Given the description of an element on the screen output the (x, y) to click on. 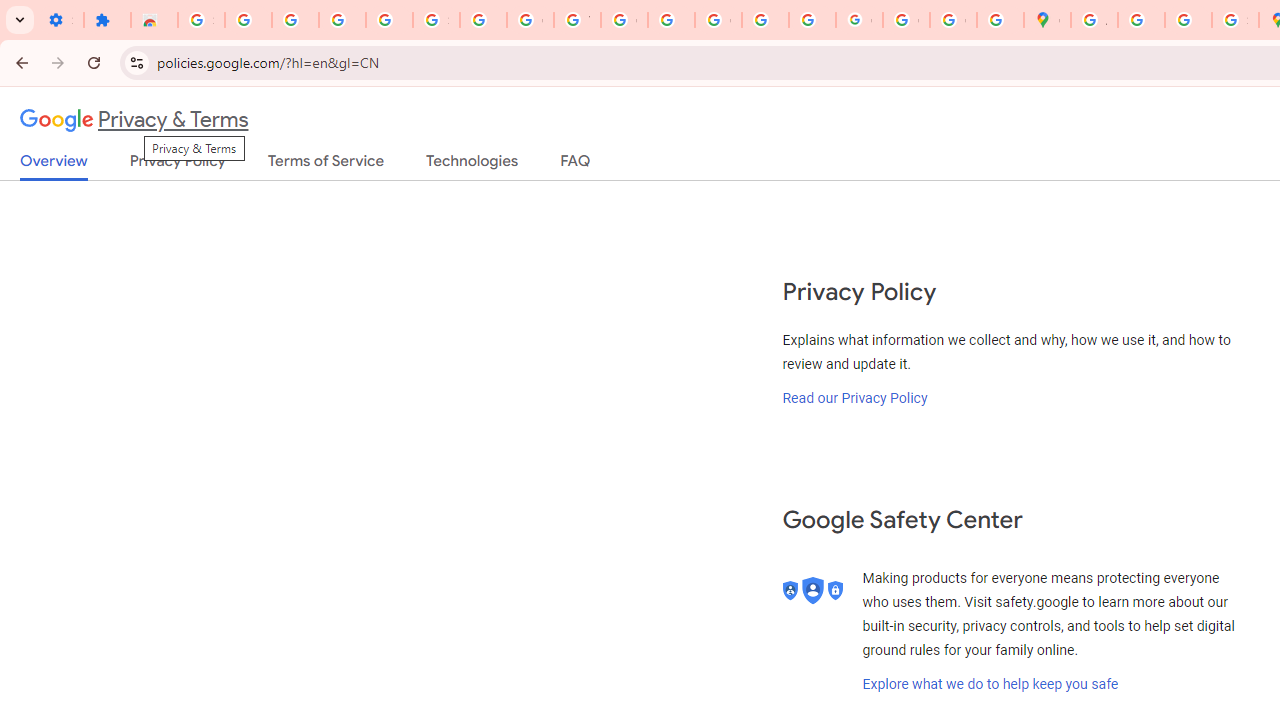
FAQ (575, 165)
Safety in Our Products - Google Safety Center (1235, 20)
Sign in - Google Accounts (436, 20)
Google Maps (1047, 20)
Privacy Policy (177, 165)
Google Account (530, 20)
